Given the description of an element on the screen output the (x, y) to click on. 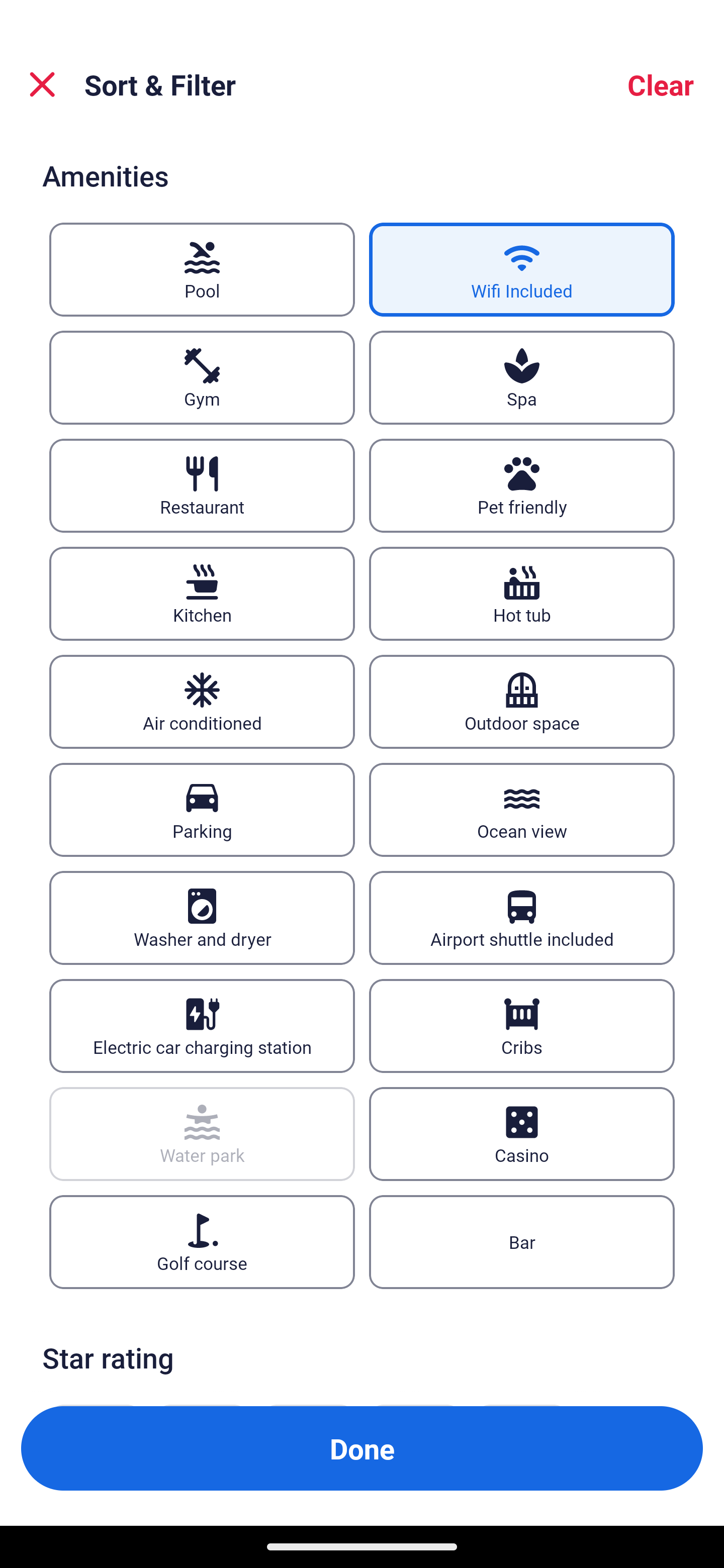
Close Sort and Filter (42, 84)
Clear (660, 84)
Pool (201, 269)
Wifi Included (521, 269)
Gym (201, 377)
Spa (521, 377)
Restaurant (201, 486)
Pet friendly (521, 486)
Kitchen (201, 594)
Hot tub (521, 594)
Air conditioned (201, 702)
Outdoor space (521, 702)
Parking (201, 809)
Ocean view (521, 809)
Washer and dryer (201, 917)
Airport shuttle included (521, 917)
Electric car charging station (201, 1025)
Cribs (521, 1025)
Water park (201, 1133)
Casino (521, 1133)
Golf course (201, 1241)
Bar (521, 1241)
Apply and close Sort and Filter Done (361, 1448)
